Given the description of an element on the screen output the (x, y) to click on. 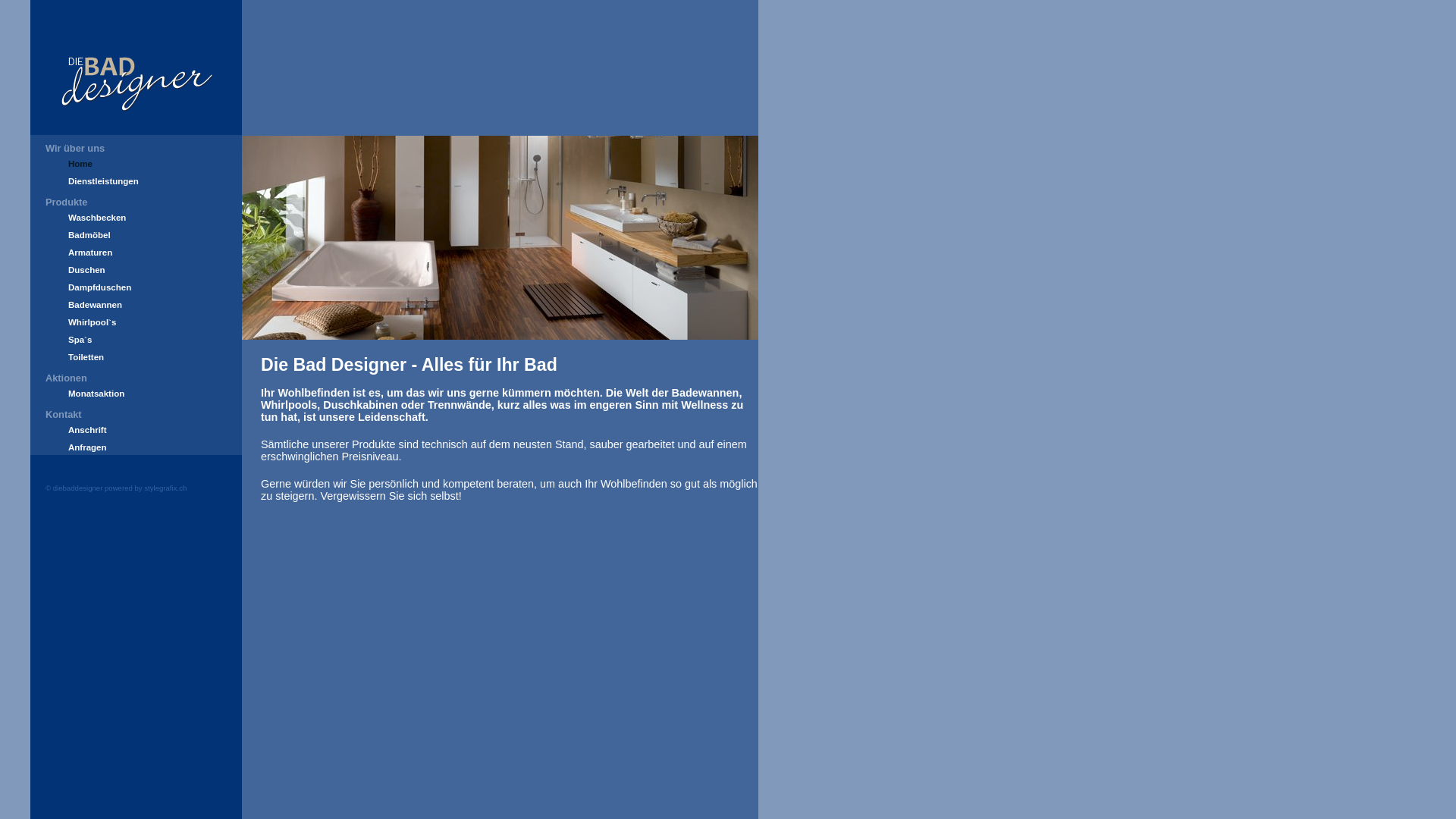
Toiletten Element type: text (85, 356)
Spa`s Element type: text (79, 339)
Anschrift Element type: text (87, 429)
Waschbecken Element type: text (96, 217)
Dampfduschen Element type: text (99, 286)
Duschen Element type: text (86, 269)
Home Element type: text (80, 163)
Dienstleistungen Element type: text (103, 180)
stylegrafix.ch Element type: text (165, 487)
Monatsaktion Element type: text (96, 393)
Whirlpool`s Element type: text (92, 321)
Badewannen Element type: text (95, 304)
Anfragen Element type: text (87, 446)
Armaturen Element type: text (90, 252)
